Given the description of an element on the screen output the (x, y) to click on. 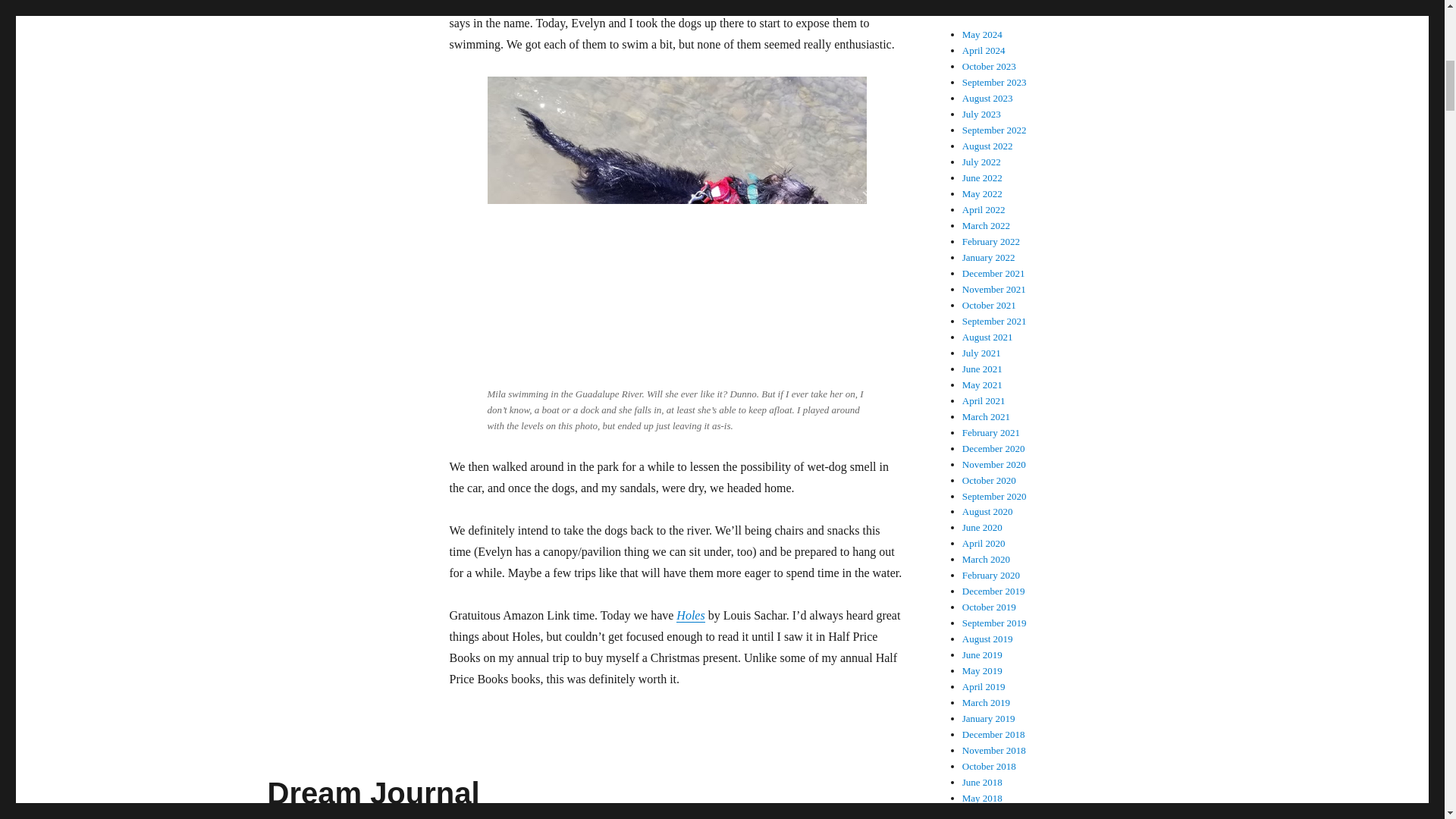
Holes (690, 615)
Dream Journal (372, 792)
